Given the description of an element on the screen output the (x, y) to click on. 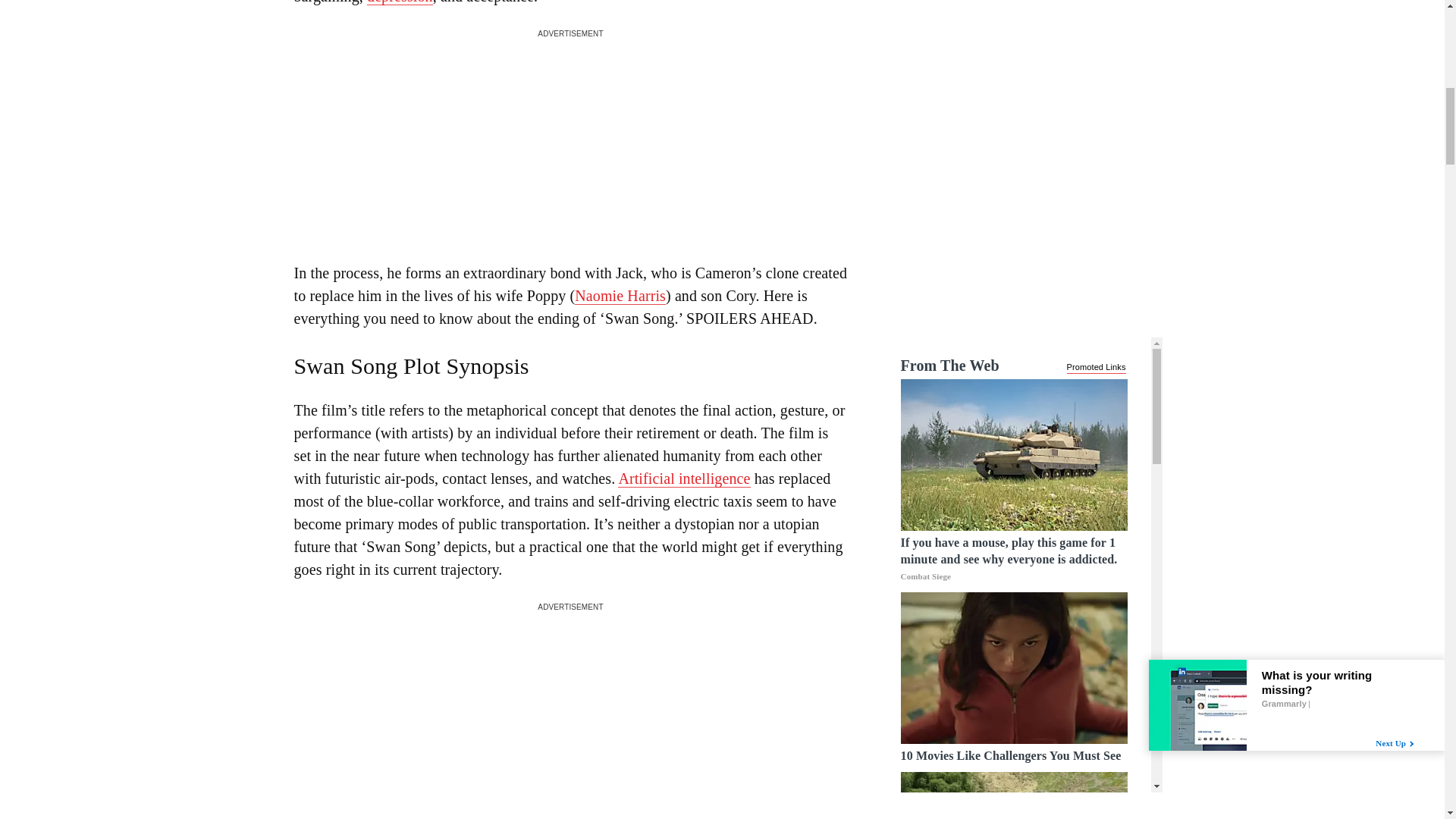
Naomie Harris (620, 295)
Artificial intelligence (683, 478)
depression (399, 2)
